Given the description of an element on the screen output the (x, y) to click on. 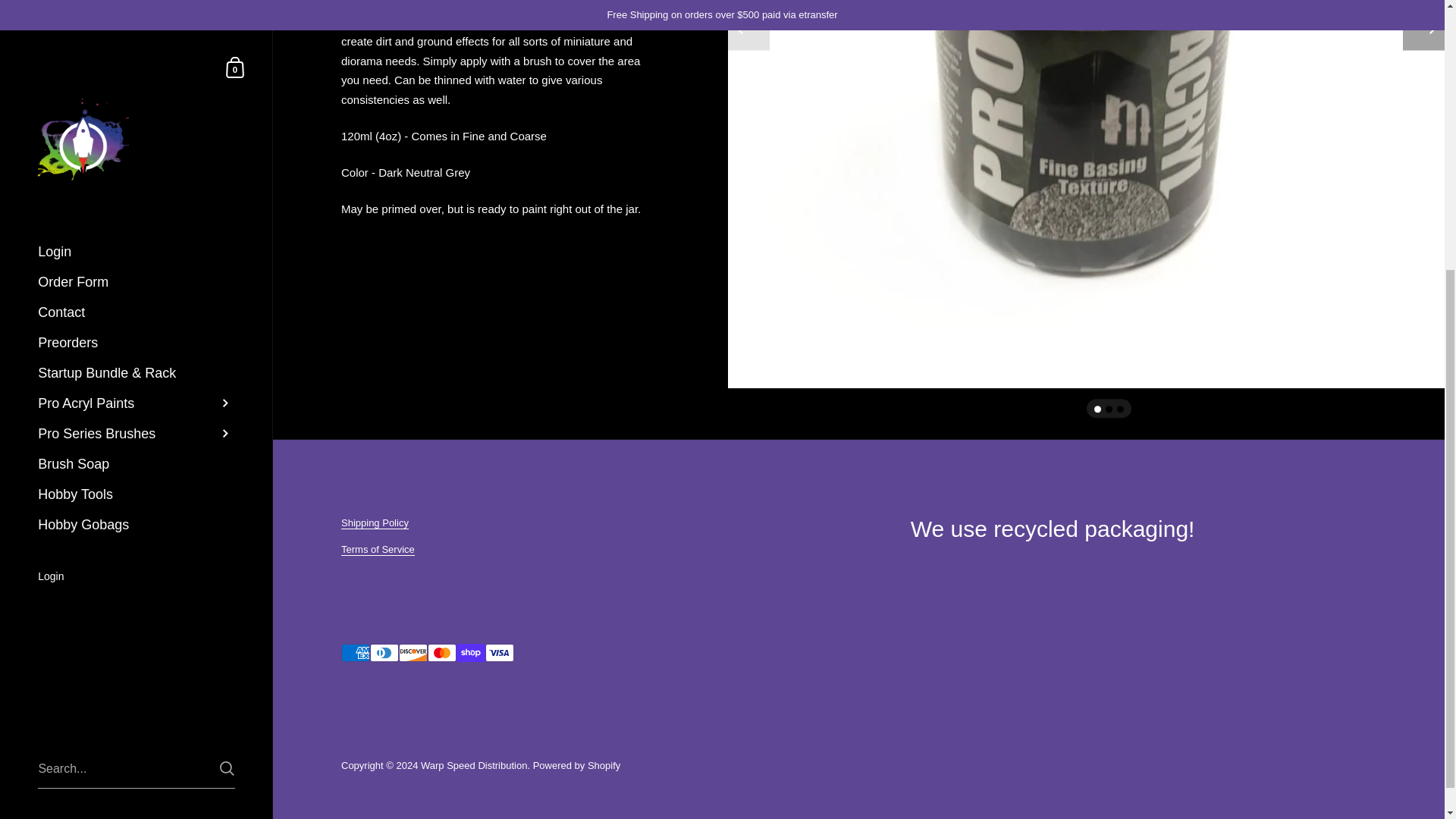
Hobby Gobags (136, 114)
Hobby Tools (136, 83)
Pro Series Brushes (136, 23)
Brush Soap (136, 53)
Login (136, 167)
Powered by Shopify (576, 765)
Pro Acryl Paints (136, 4)
Terms of Service (377, 549)
Shipping Policy (374, 522)
Warp Speed Distribution (473, 765)
